Given the description of an element on the screen output the (x, y) to click on. 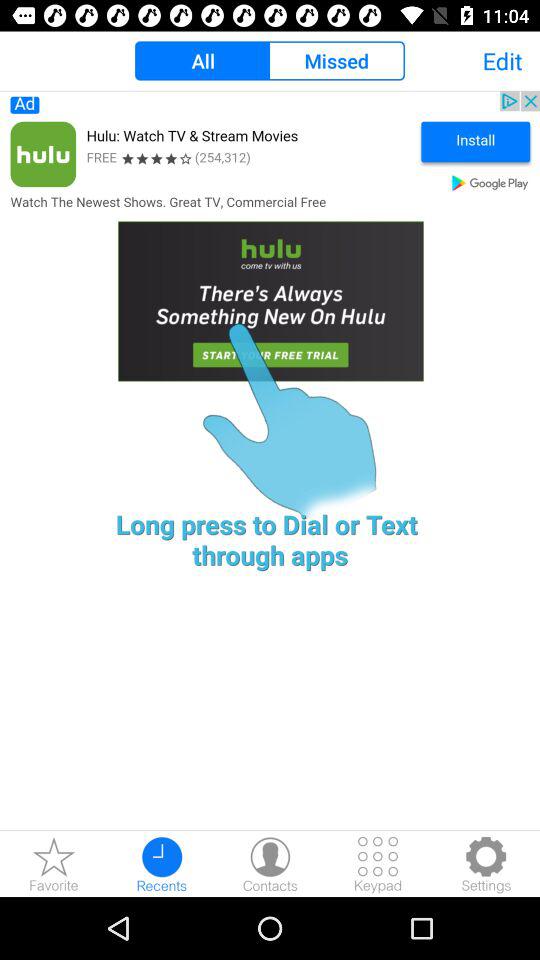
contacts the option (269, 864)
